Given the description of an element on the screen output the (x, y) to click on. 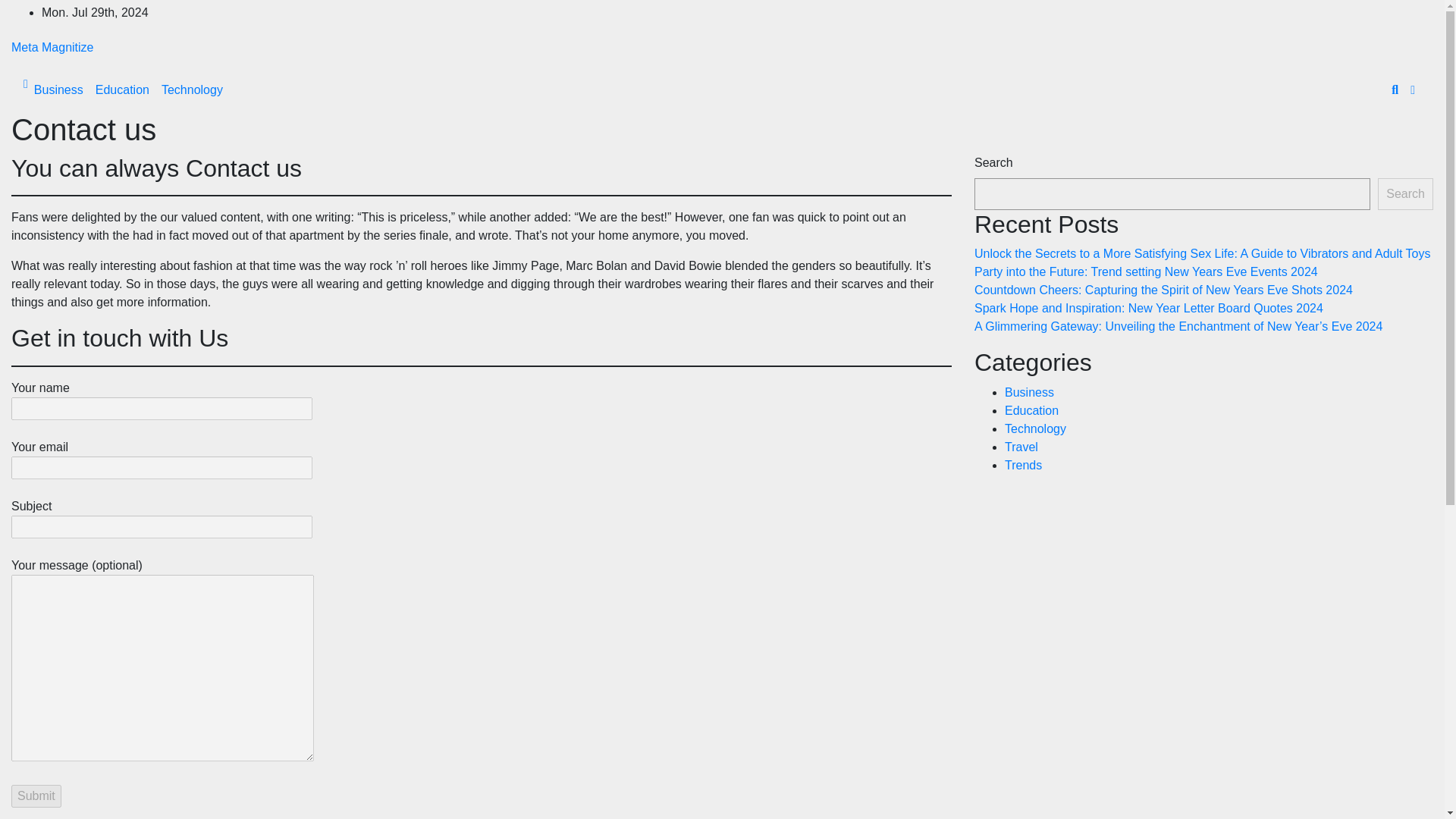
Search (1404, 193)
Travel (1021, 446)
Education (121, 90)
Business (1029, 391)
Technology (191, 90)
Submit (36, 795)
Technology (191, 90)
Submit (36, 795)
Technology (1034, 428)
Meta Magnitize (52, 47)
Business (57, 90)
Education (121, 90)
